Given the description of an element on the screen output the (x, y) to click on. 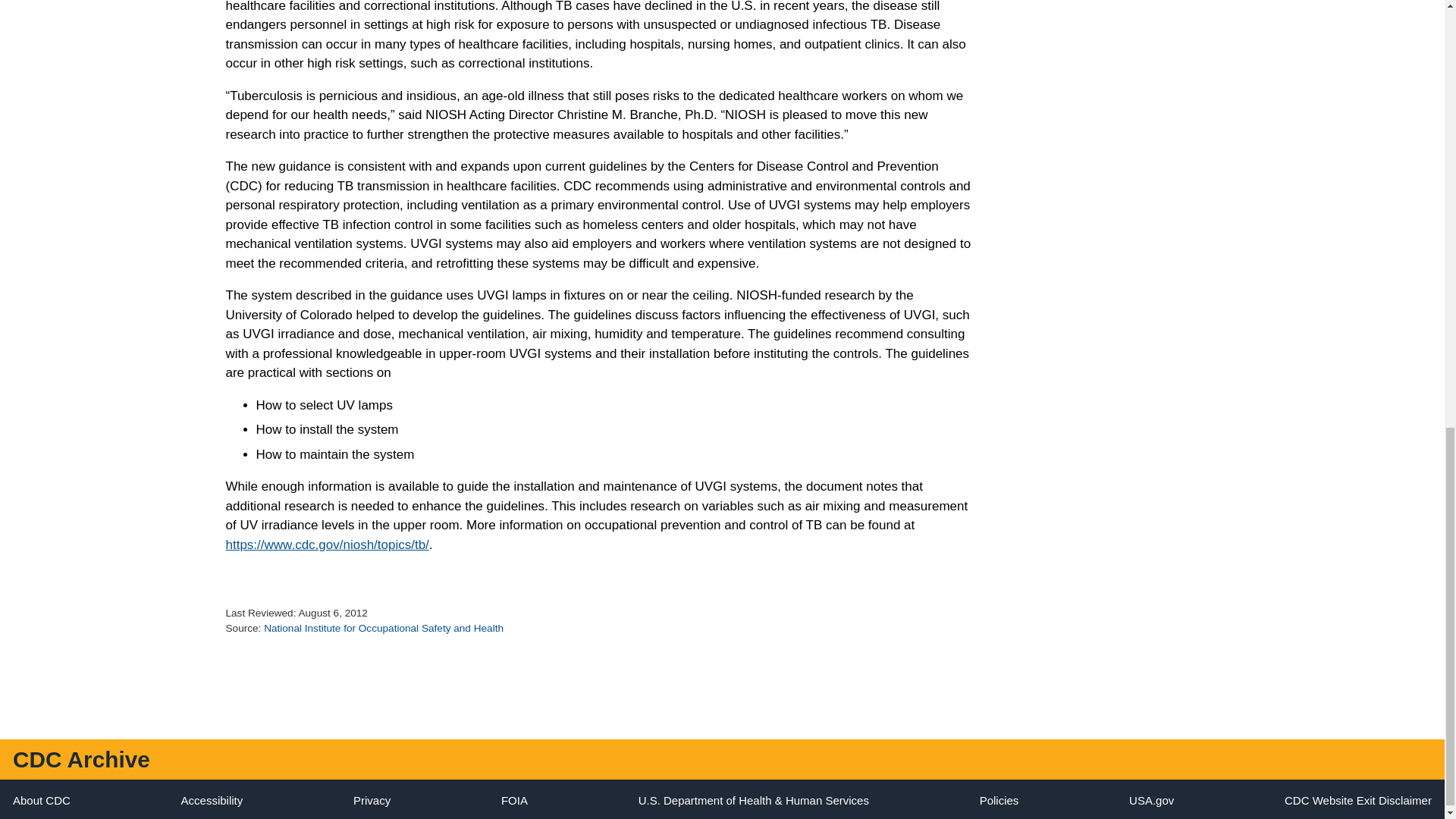
CDC Archive Home (81, 759)
National Institute for Occupational Safety and Health (383, 627)
CDC Digital Media Channel Privacy Policy Notice (371, 799)
CDC Twenty Four Seven (41, 799)
CDC Policies and Regulations (999, 799)
USA.gov (1151, 799)
CDC Accessibility (211, 799)
